Given the description of an element on the screen output the (x, y) to click on. 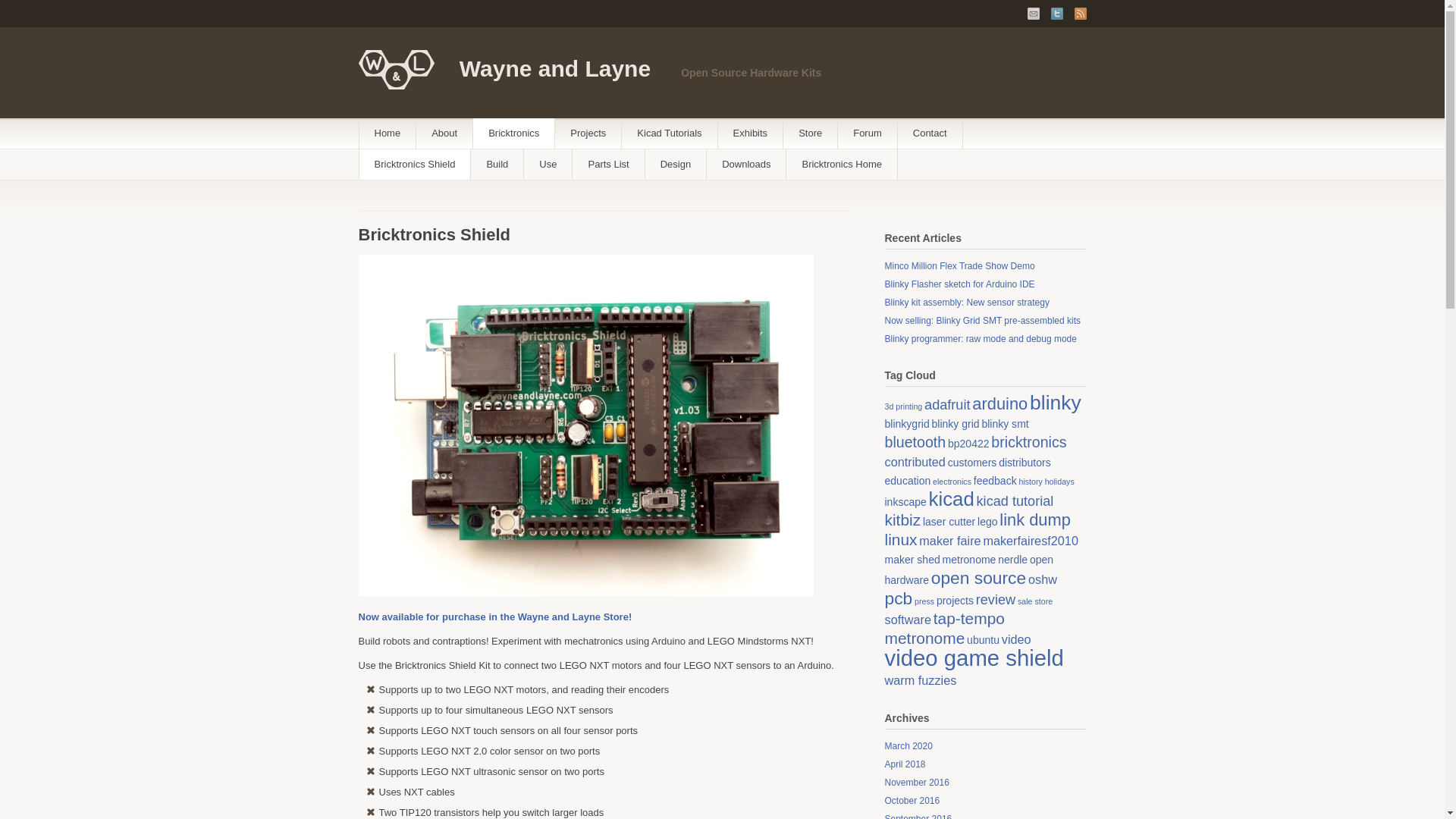
Downloads (746, 164)
Forum (867, 132)
Home (387, 132)
Kicad Tutorials (668, 132)
Design (675, 164)
Now available for purchase in the Wayne and Layne Store! (494, 616)
Build (496, 164)
Projects (587, 132)
Use (548, 164)
Bricktronics Home (841, 164)
Bricktronics Shield (414, 164)
Store (810, 132)
Wayne and Layne (555, 68)
Bricktronics (513, 132)
About (443, 132)
